Given the description of an element on the screen output the (x, y) to click on. 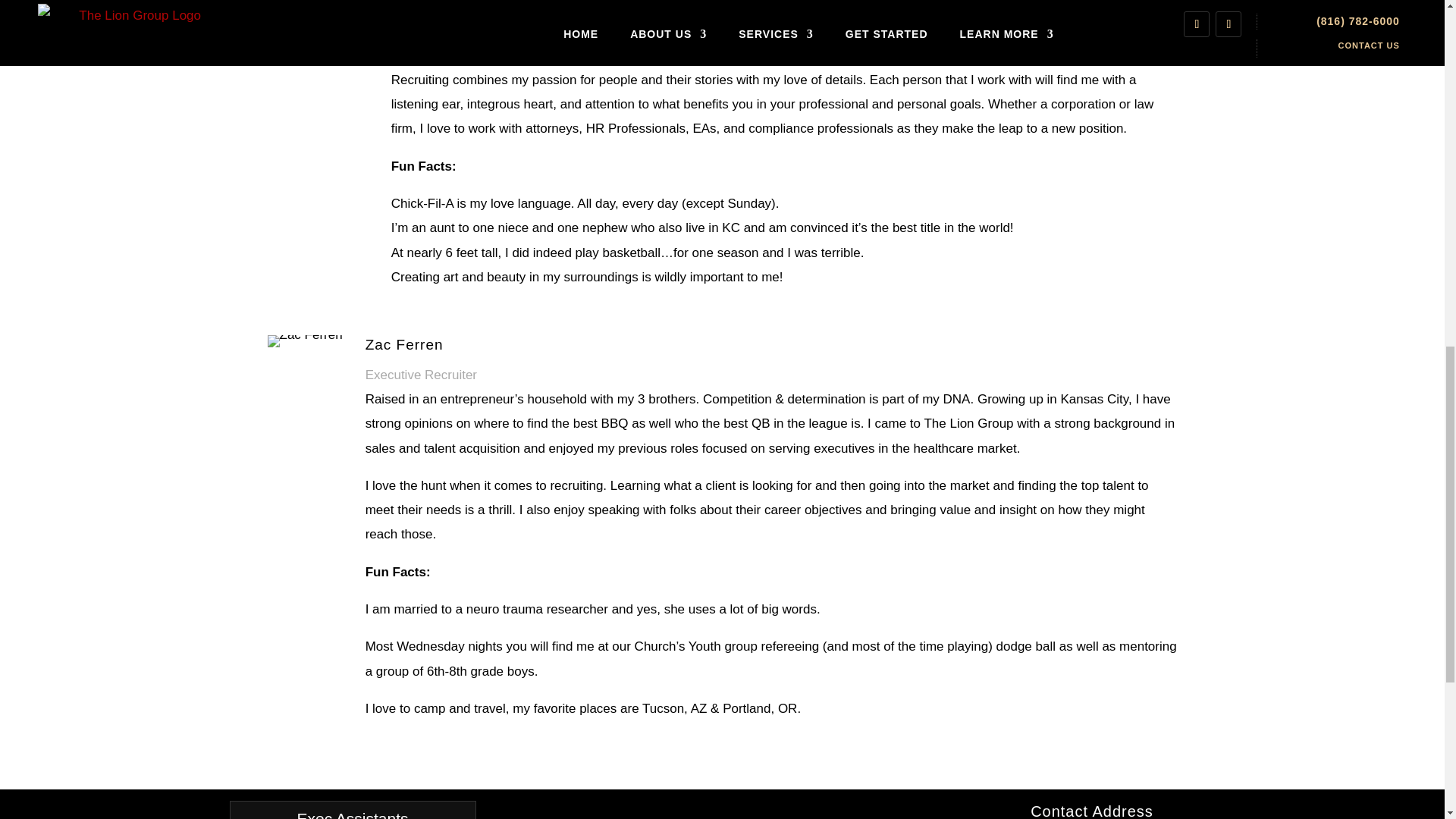
Exec Assistants (352, 809)
